Given the description of an element on the screen output the (x, y) to click on. 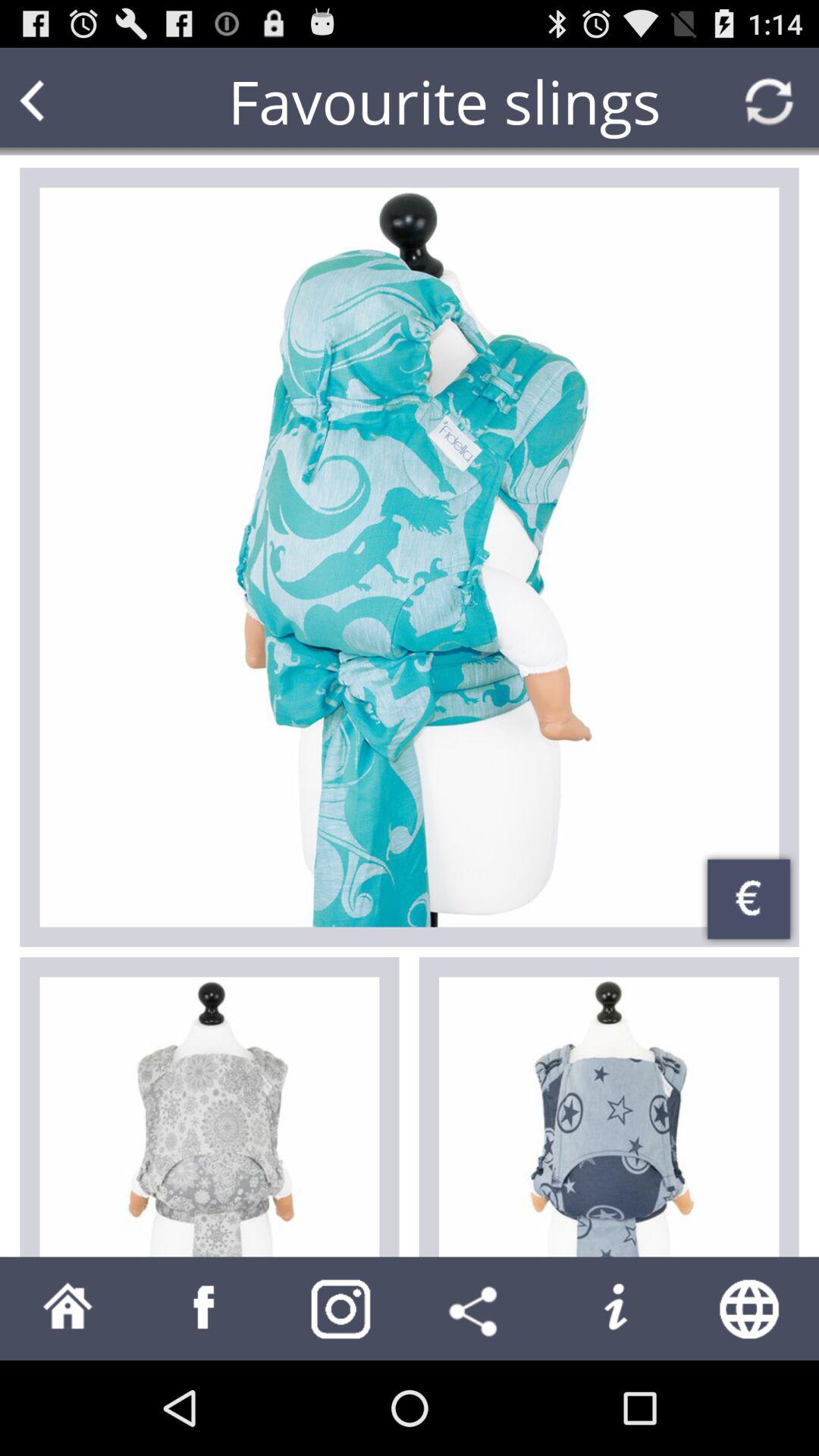
share button (477, 1308)
